Given the description of an element on the screen output the (x, y) to click on. 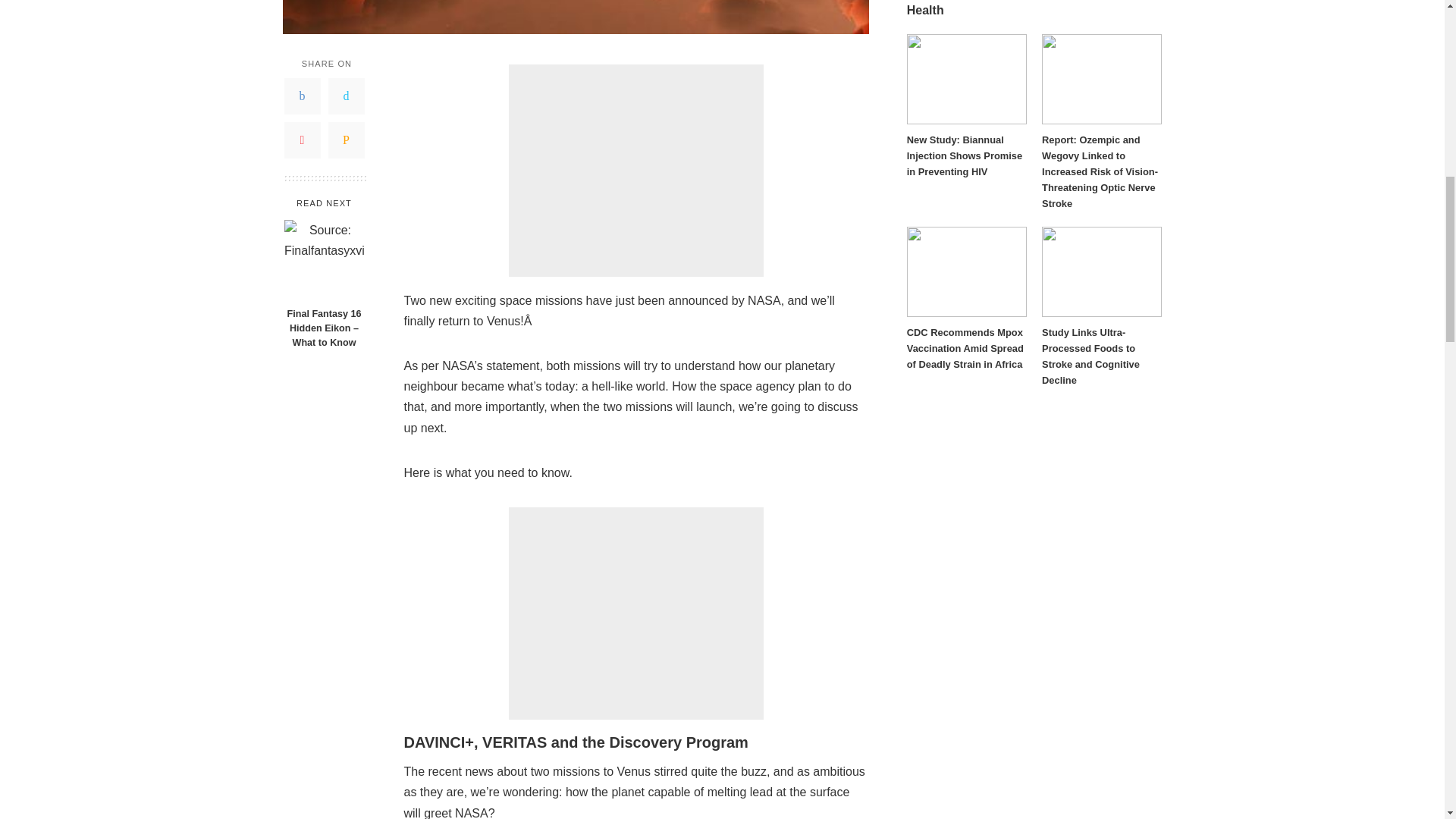
Facebook (301, 95)
